Given the description of an element on the screen output the (x, y) to click on. 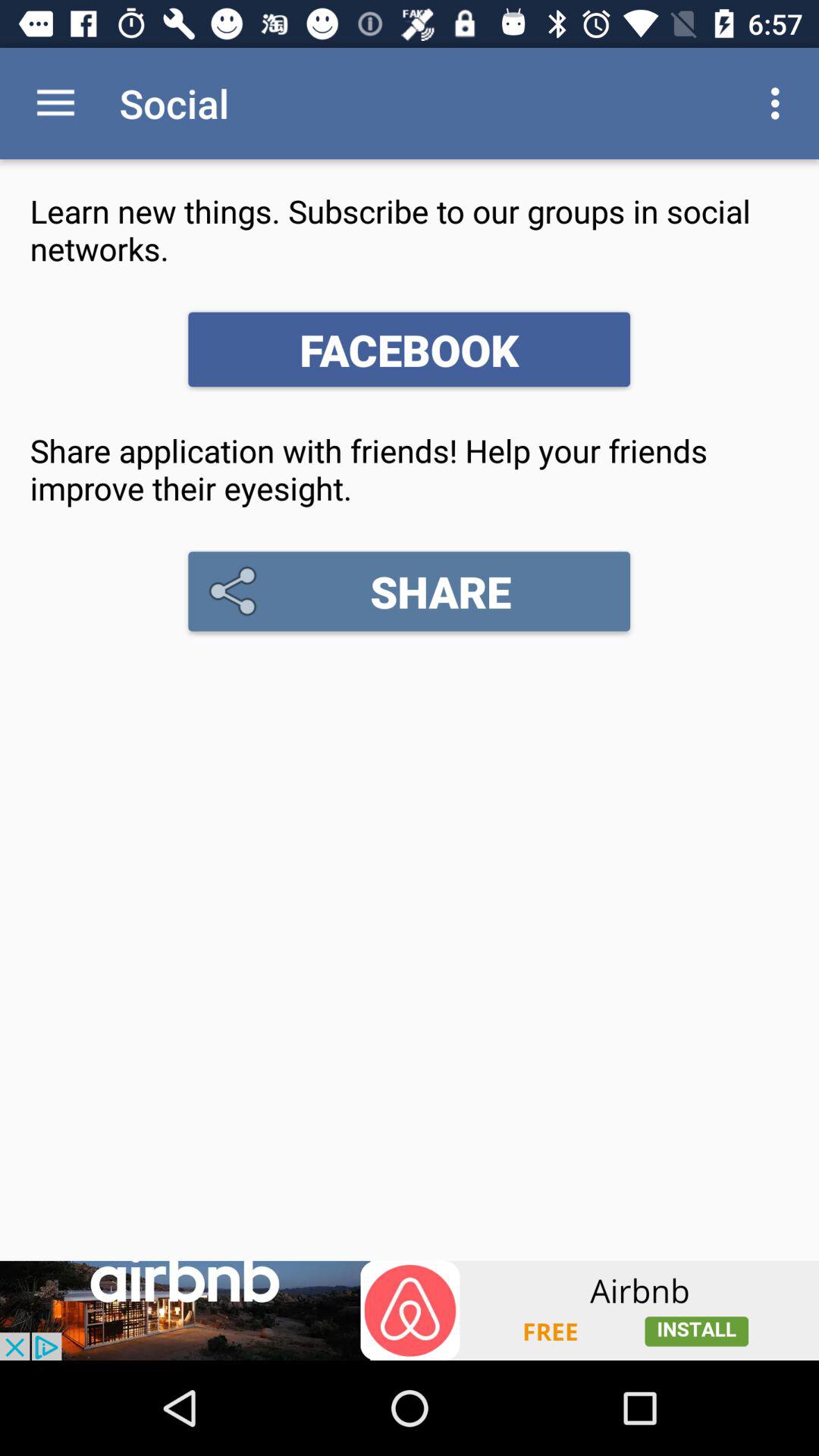
click to view advertisement (409, 1310)
